Given the description of an element on the screen output the (x, y) to click on. 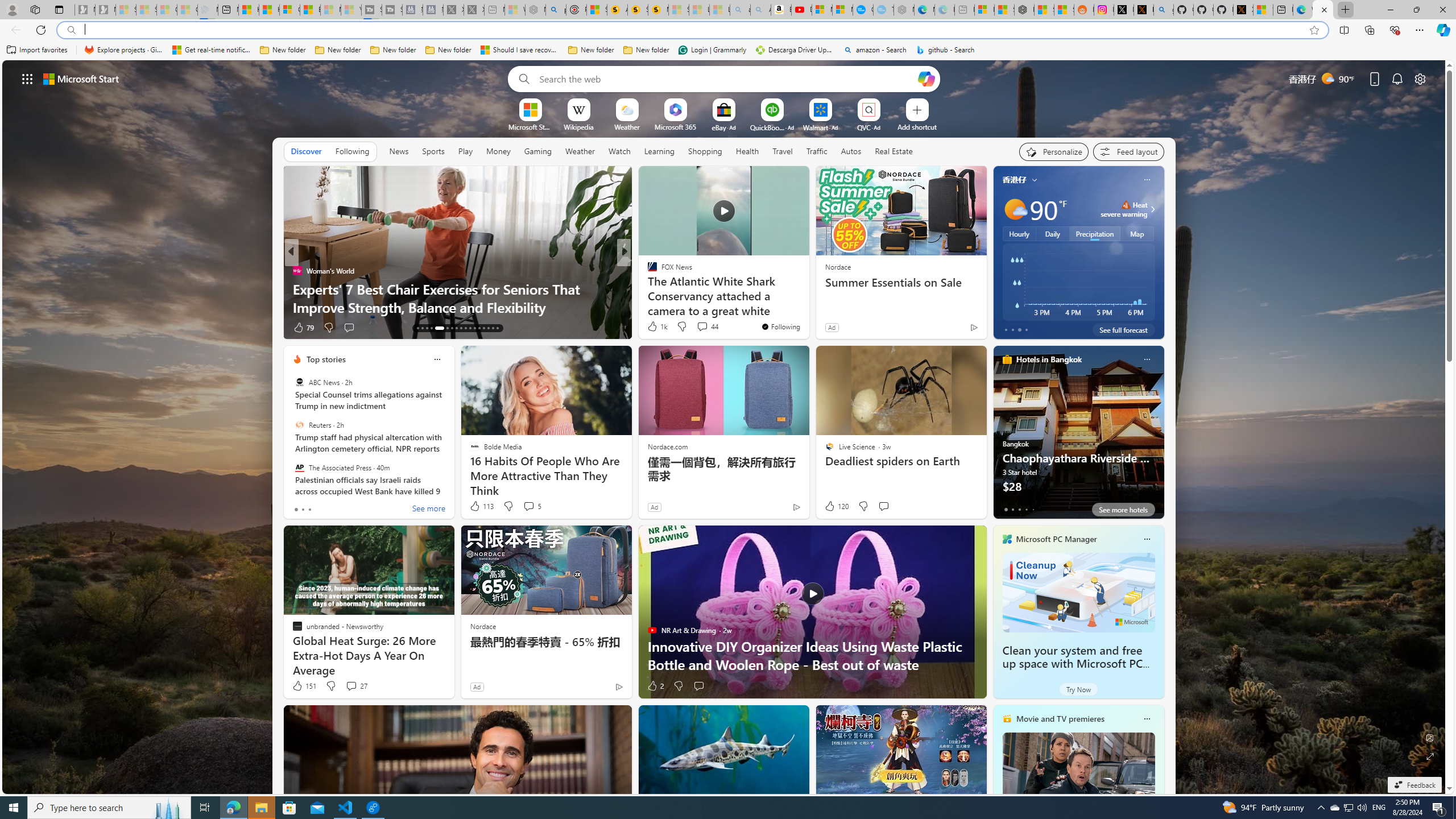
View comments 77 Comment (707, 327)
Should I save recovered Word documents? - Microsoft Support (519, 49)
Wildlife - MSN - Sleeping (514, 9)
tab-4 (1032, 509)
Back (13, 29)
1k Like (656, 326)
Settings and more (Alt+F) (1419, 29)
Favorites bar (728, 49)
View comments 27 Comment (350, 685)
To get missing image descriptions, open the context menu. (529, 109)
AutomationID: tab-29 (497, 328)
AutomationID: tab-24 (474, 328)
